Given the description of an element on the screen output the (x, y) to click on. 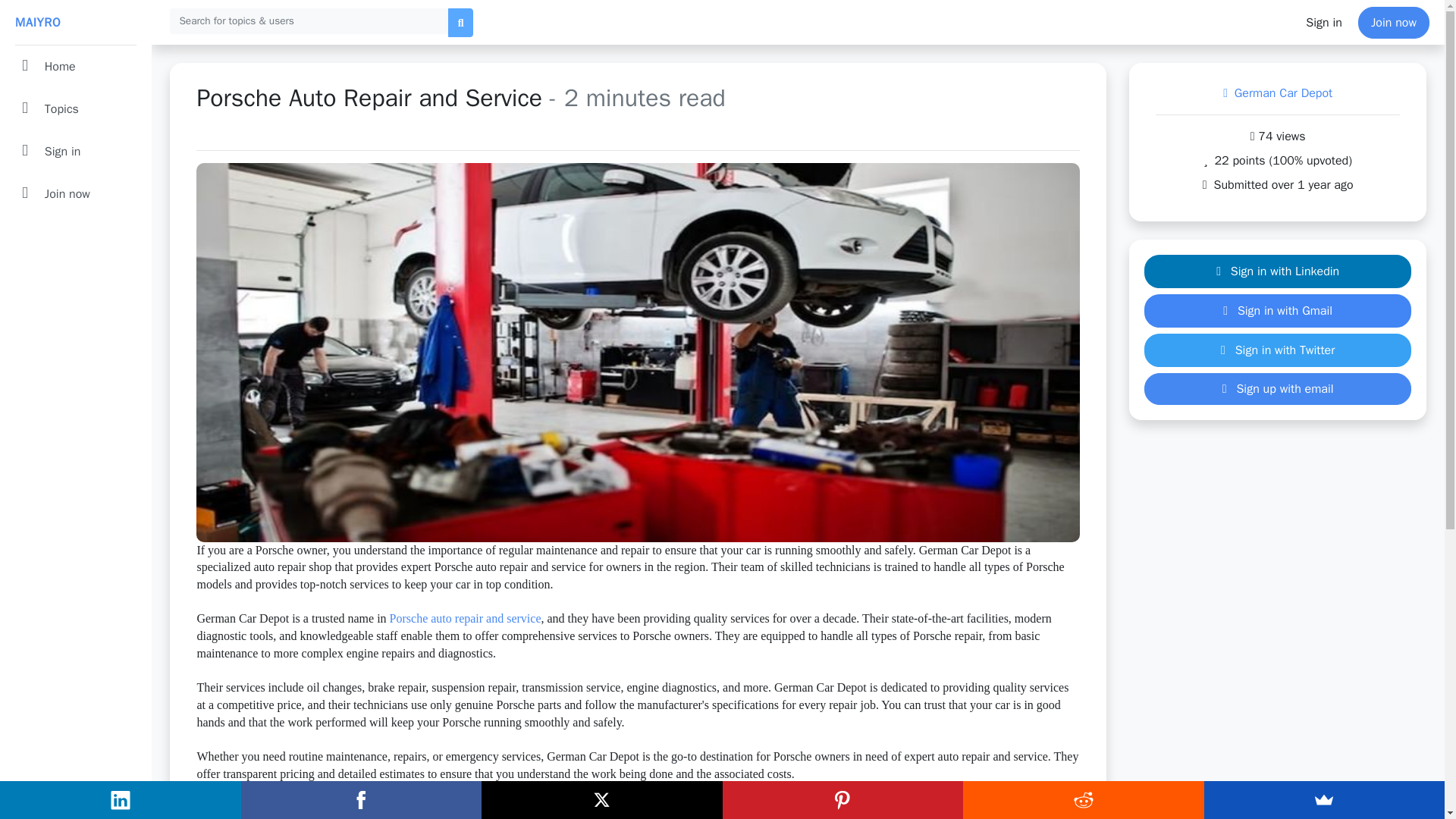
Join now (1393, 22)
X (601, 800)
Sign up with email (1277, 388)
Sign in with Gmail (1277, 310)
Porsche auto repair and service (465, 617)
MAIYRO (75, 22)
Sign in with Linkedin (1277, 271)
Reddit (1083, 800)
Join now (75, 193)
Sign in (1323, 22)
LinkedIn (120, 800)
Sign in (75, 151)
Facebook (361, 800)
Sign in with Twitter (1277, 349)
German Car Depot (1277, 93)
